Given the description of an element on the screen output the (x, y) to click on. 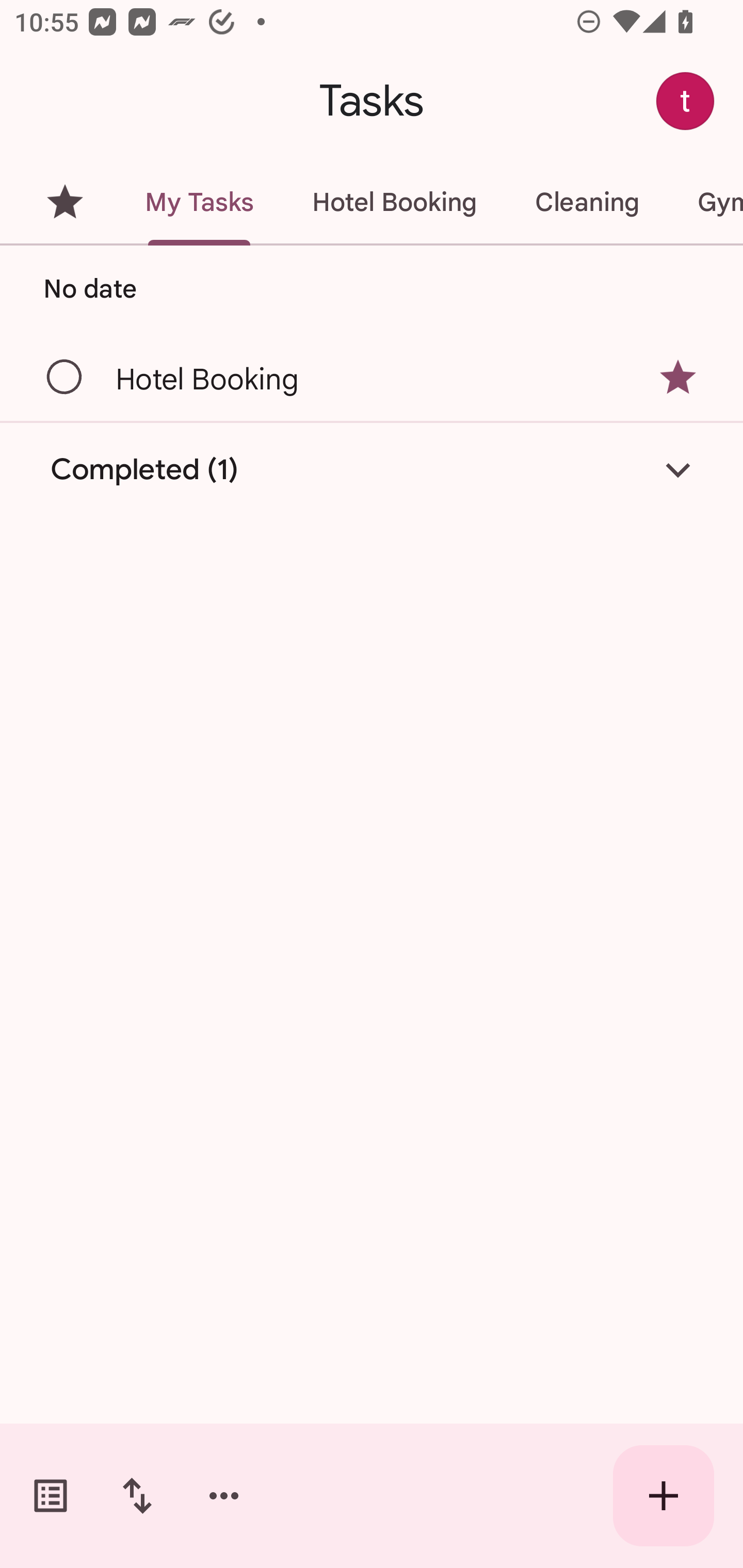
Starred (64, 202)
Hotel Booking (394, 202)
Cleaning (586, 202)
Remove star (677, 376)
Mark as complete (64, 377)
Completed (1) (371, 470)
Switch task lists (50, 1495)
Create new task (663, 1495)
Change sort order (136, 1495)
More options (223, 1495)
